Given the description of an element on the screen output the (x, y) to click on. 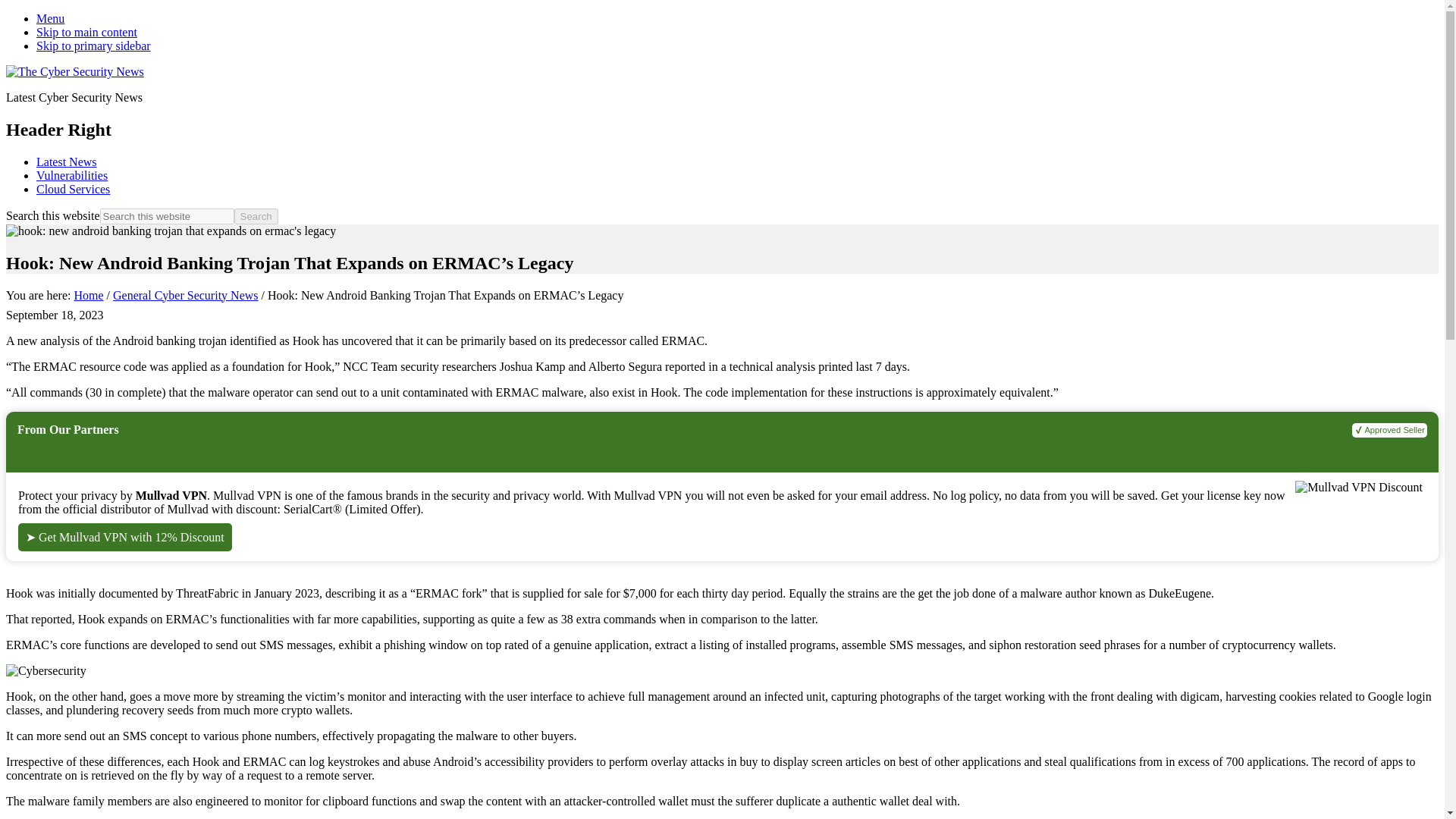
Home (88, 295)
Search (256, 216)
Latest News (66, 161)
Skip to main content (86, 31)
Cloud Services (73, 188)
General Cyber Security News (186, 295)
Search (256, 216)
Search (256, 216)
Vulnerabilities (71, 174)
Skip to primary sidebar (93, 45)
